Given the description of an element on the screen output the (x, y) to click on. 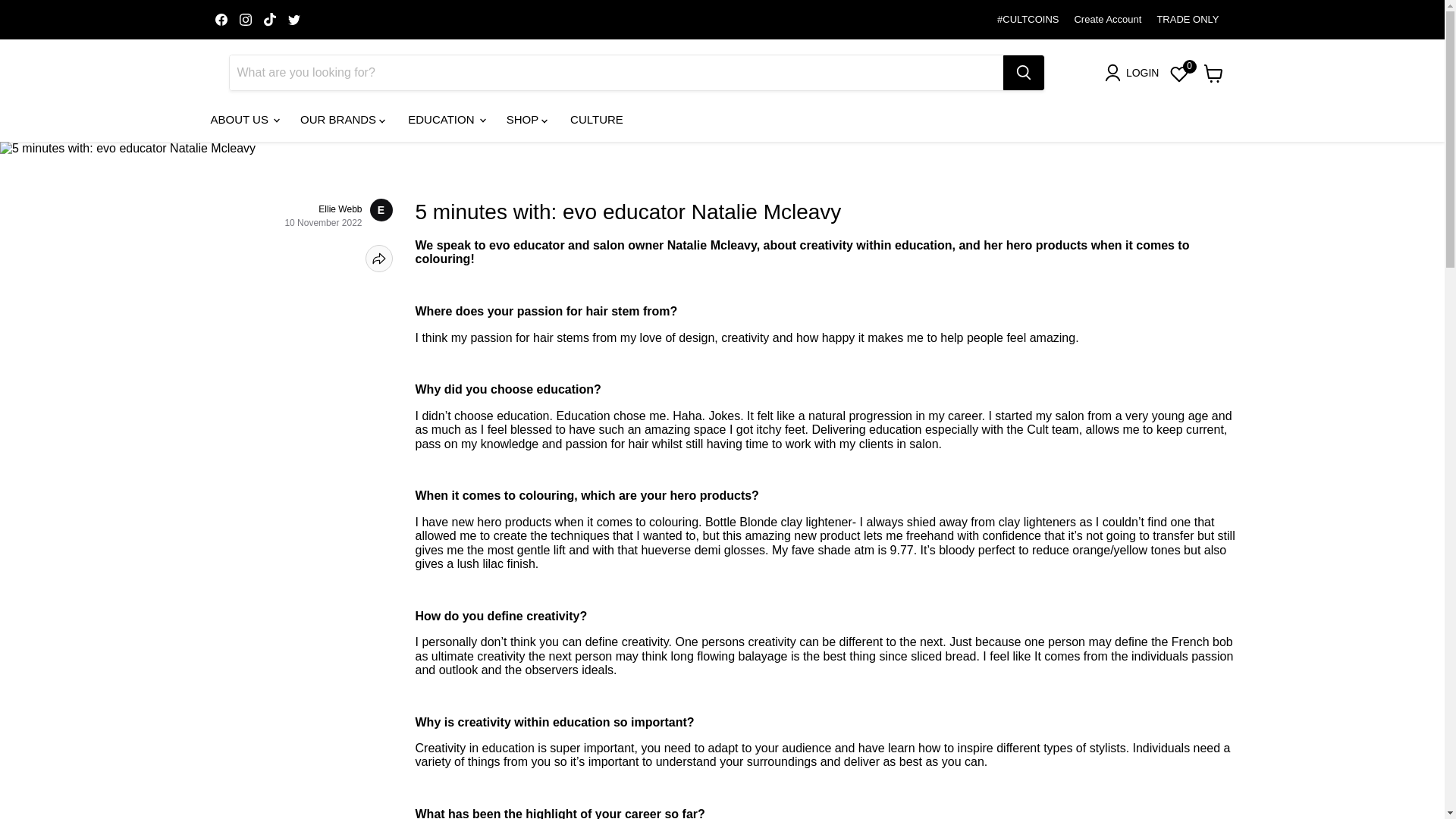
View cart (1213, 73)
Twitter (293, 19)
LOGIN (1135, 72)
Create Account (1107, 19)
Find us on Instagram (245, 19)
Find us on Facebook (221, 19)
TRADE ONLY (1187, 19)
Find us on TikTok (270, 19)
TikTok (270, 19)
Instagram (245, 19)
Facebook (221, 19)
Find us on Twitter (293, 19)
